Given the description of an element on the screen output the (x, y) to click on. 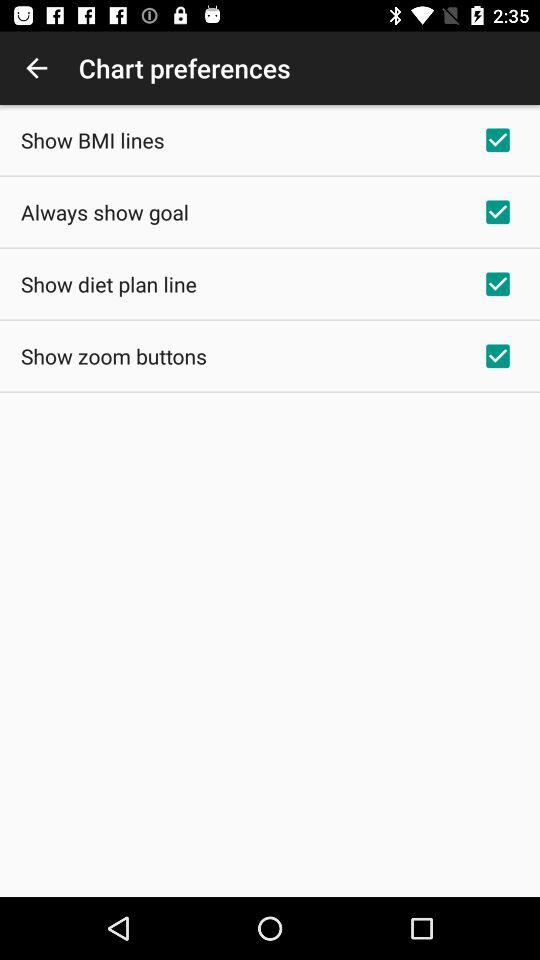
click the app below always show goal app (108, 284)
